Given the description of an element on the screen output the (x, y) to click on. 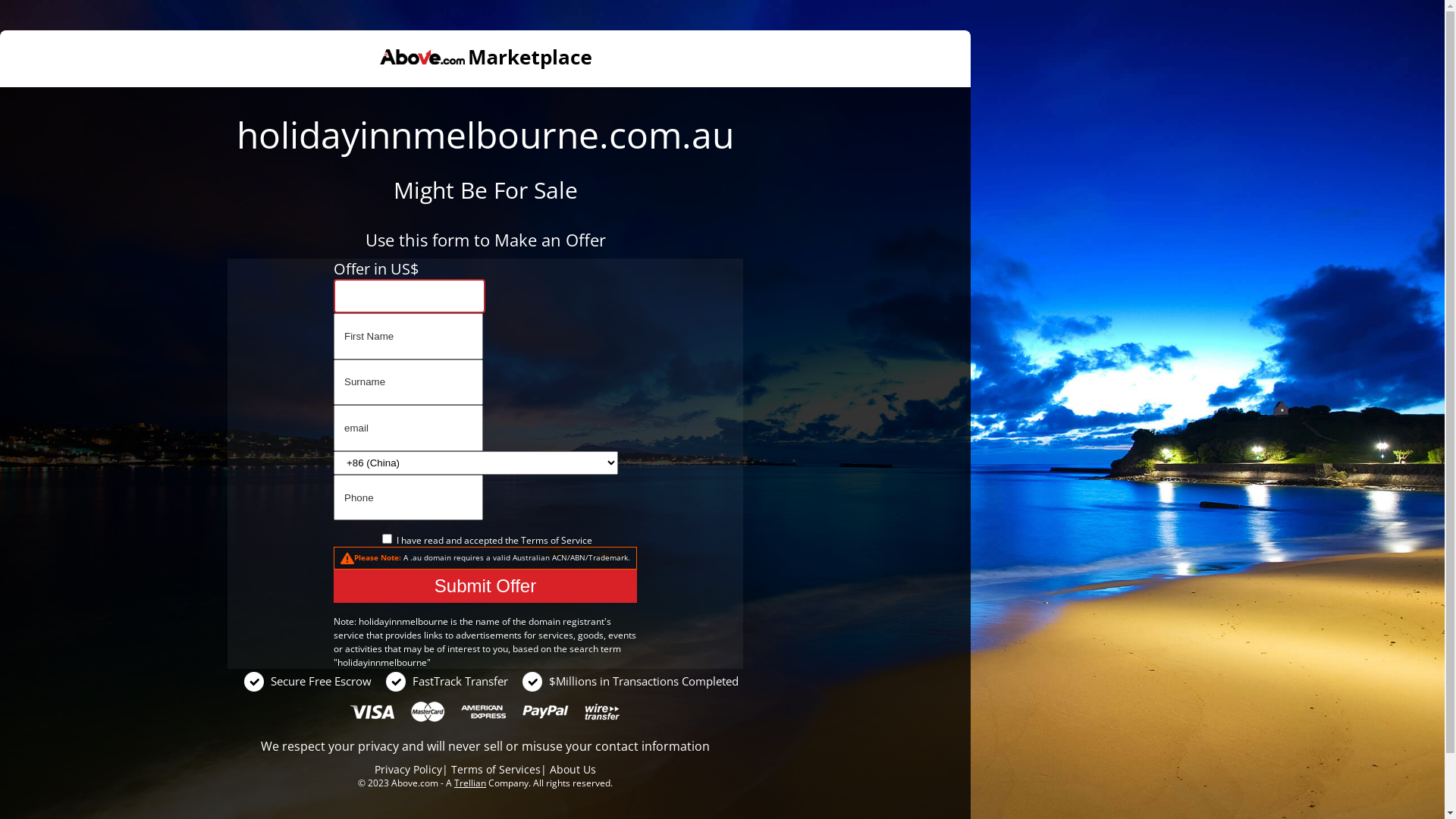
Trellian Element type: text (470, 782)
Terms Element type: text (533, 539)
Submit Offer Element type: text (485, 585)
Privacy Policy Element type: text (408, 769)
About Us Element type: text (572, 769)
Terms of Services Element type: text (495, 769)
